Given the description of an element on the screen output the (x, y) to click on. 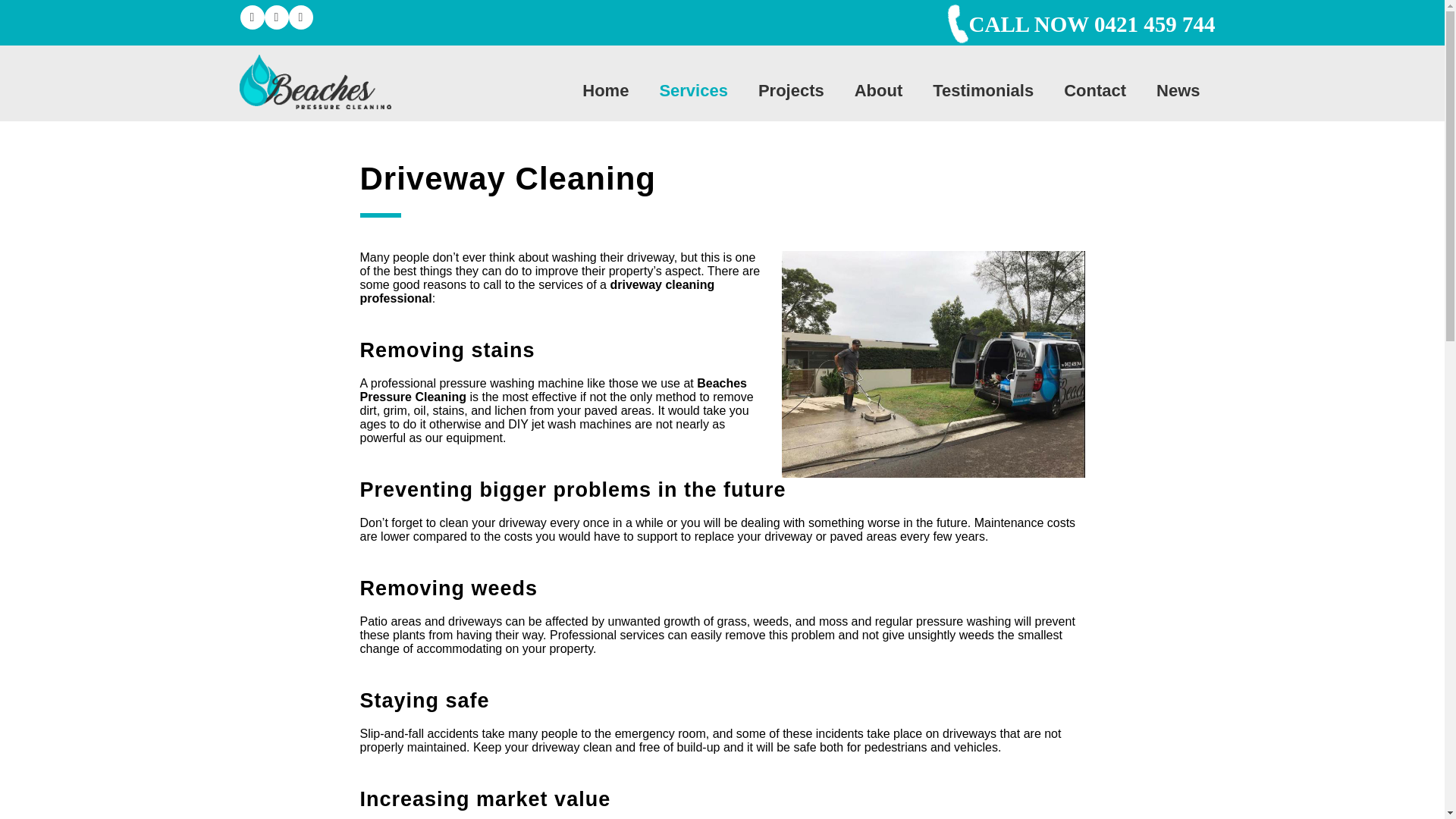
Projects (791, 90)
0421 459 744 (1154, 24)
Testimonials (982, 90)
News (1177, 90)
About (879, 90)
Contact (1094, 90)
driveway cleaning North Sydney (932, 363)
Home (605, 90)
Services (692, 90)
